Given the description of an element on the screen output the (x, y) to click on. 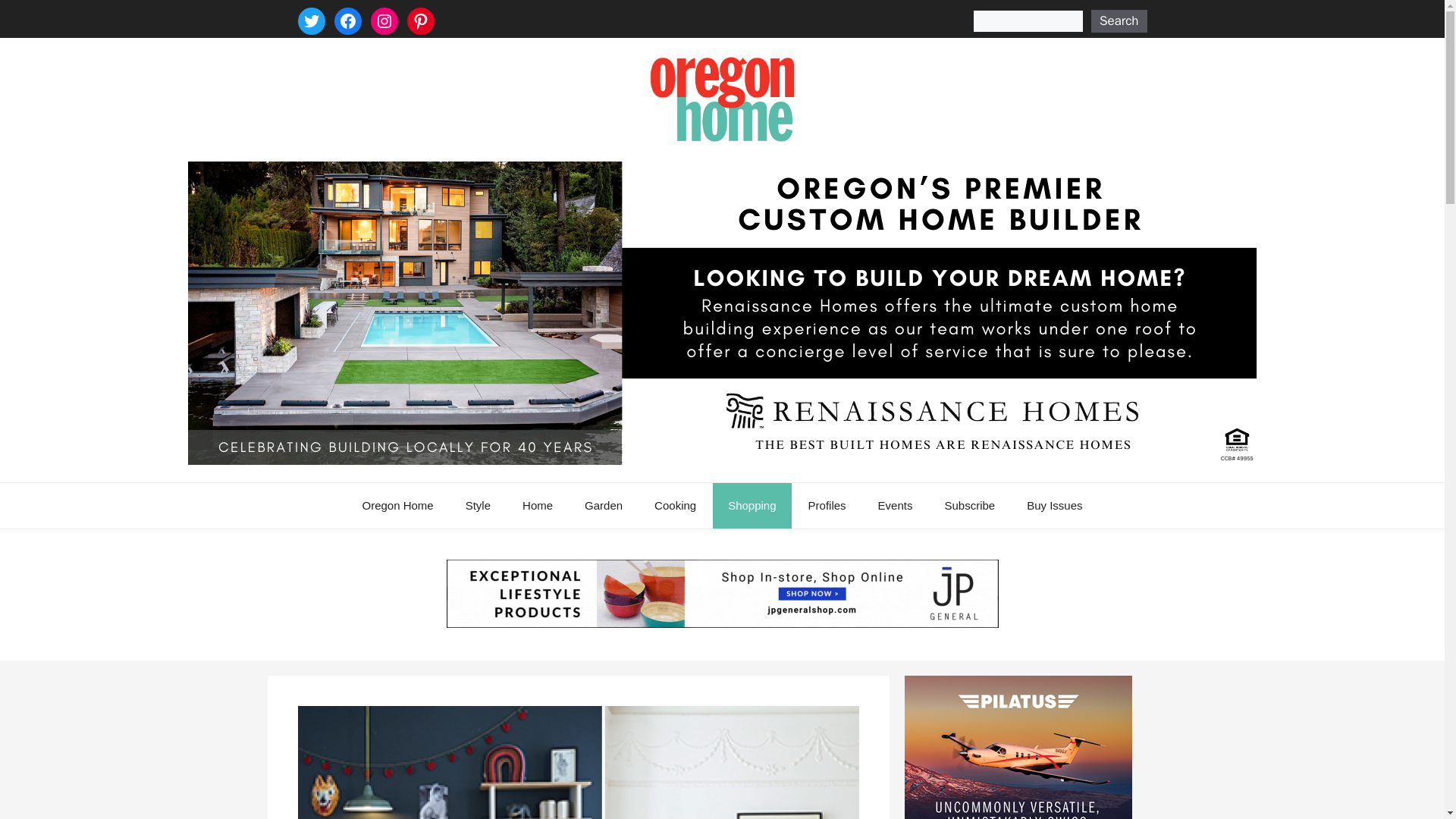
Facebook (347, 21)
Oregon Home (397, 505)
Cooking (675, 505)
Shopping (751, 505)
Events (895, 505)
Search (1118, 20)
Garden (603, 505)
Profiles (827, 505)
Buy Issues (1054, 505)
Subscribe (969, 505)
Home (536, 505)
Instagram (383, 21)
Style (477, 505)
Twitter (310, 21)
Pinterest (419, 21)
